Given the description of an element on the screen output the (x, y) to click on. 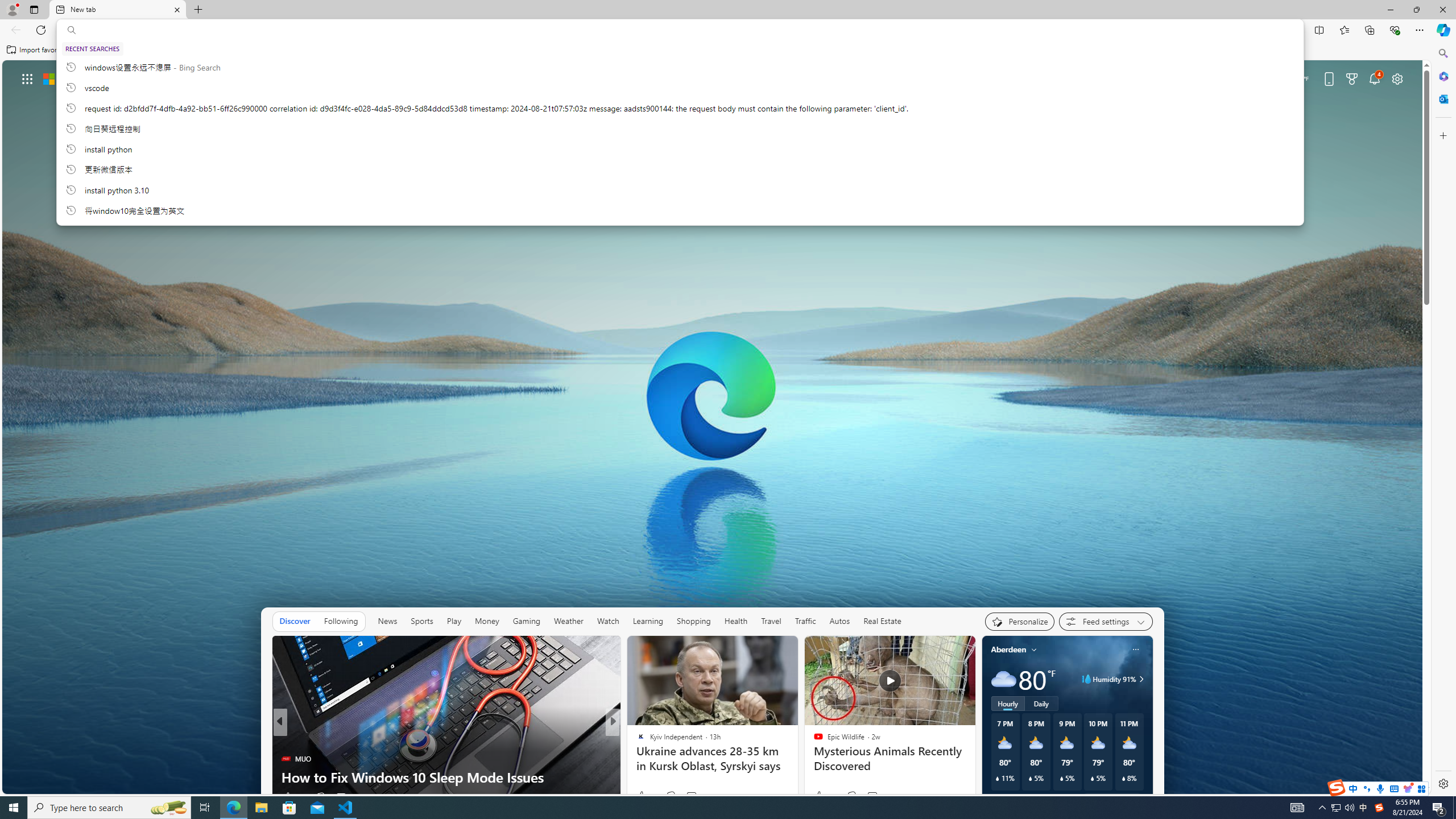
Autos (839, 621)
Class: weather-arrow-glyph (1141, 678)
Hourly (1007, 703)
View comments 141 Comment (698, 796)
Sports (421, 621)
Ansa (635, 740)
Shopping (693, 621)
745 Like (643, 796)
Sports (421, 621)
